Given the description of an element on the screen output the (x, y) to click on. 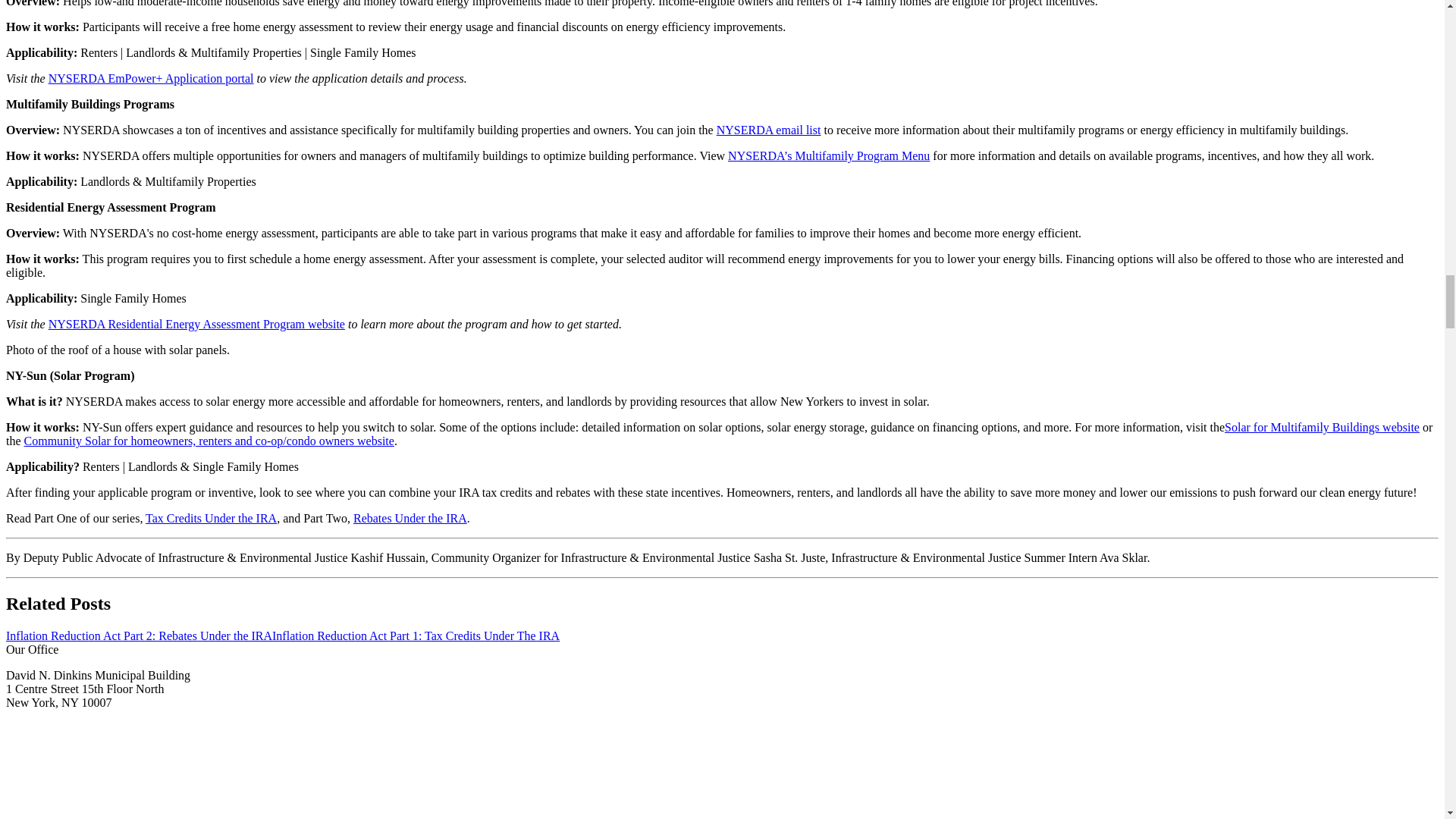
Inflation Reduction Act Part 2: Rebates Under the IRA (138, 635)
Solar for Multifamily Buildings website (1321, 427)
Inflation Reduction Act Part 1: Tax Credits Under The IRA (415, 635)
NYSERDA email list (768, 129)
NYSERDA Residential Energy Assessment Program website (196, 323)
Rebates Under the IRA (410, 517)
Tax Credits Under the IRA (210, 517)
